Given the description of an element on the screen output the (x, y) to click on. 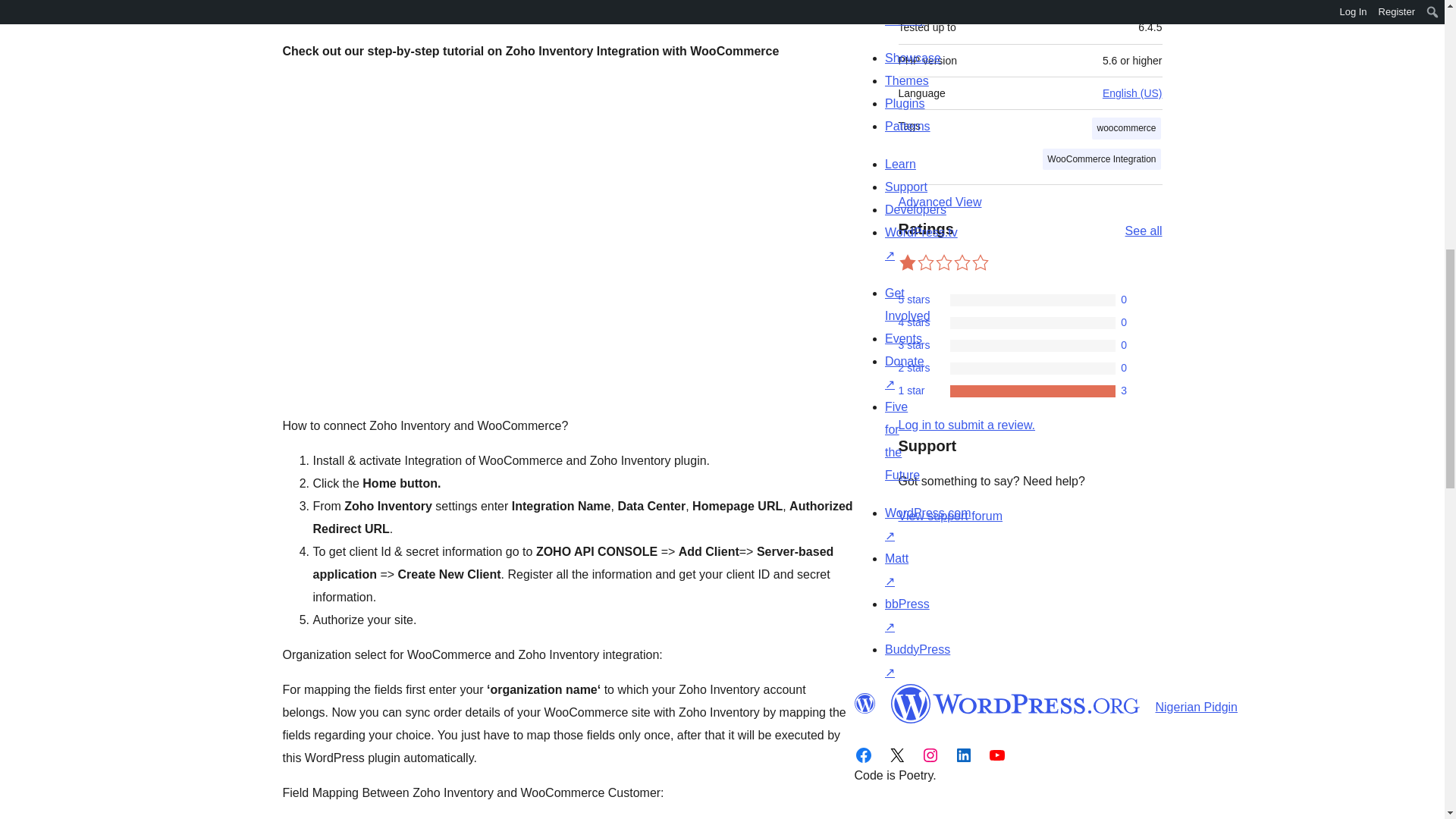
WordPress.org (864, 703)
WordPress.org (1014, 703)
Log in to WordPress.org (966, 424)
